Given the description of an element on the screen output the (x, y) to click on. 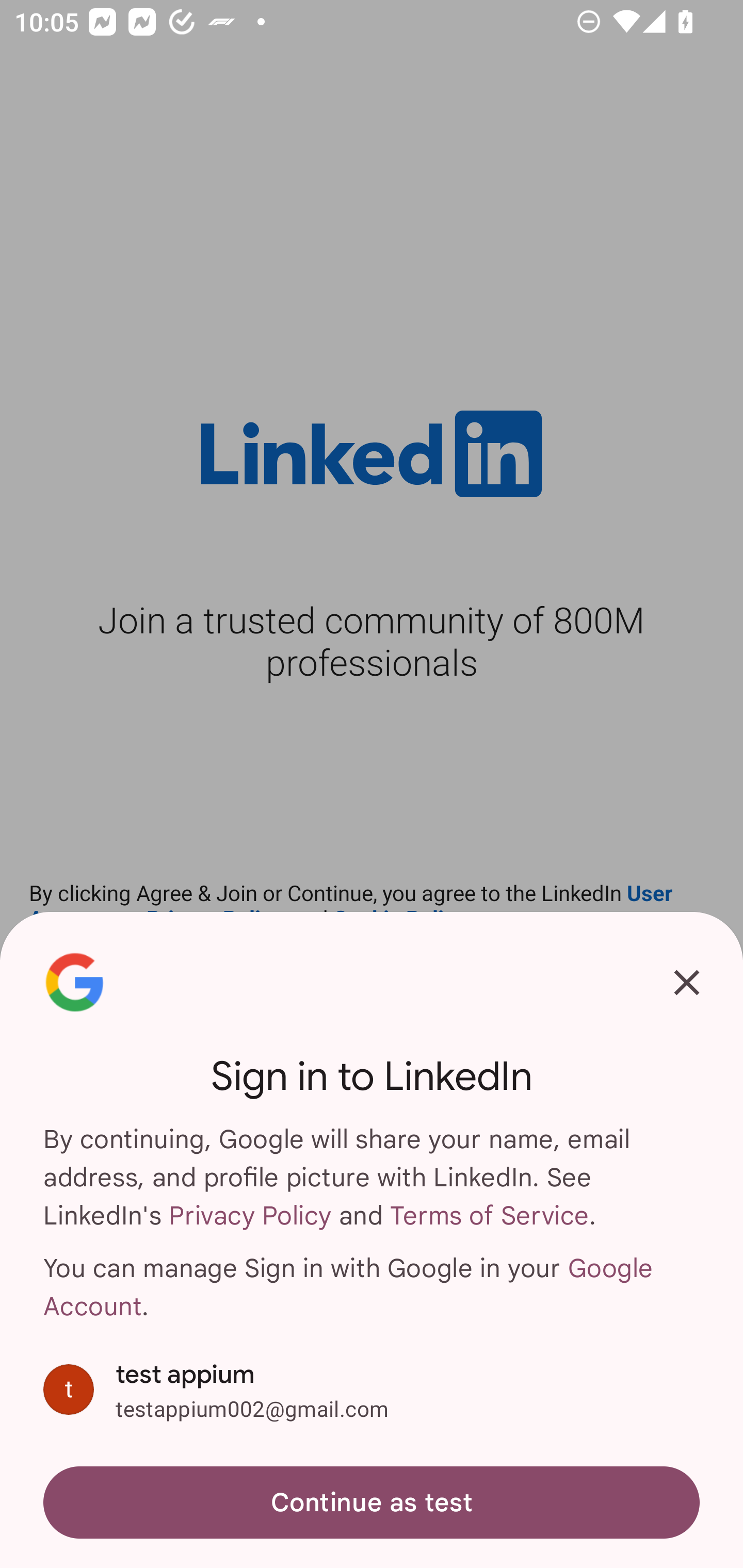
Cancel (686, 982)
Continue as test (371, 1502)
